Given the description of an element on the screen output the (x, y) to click on. 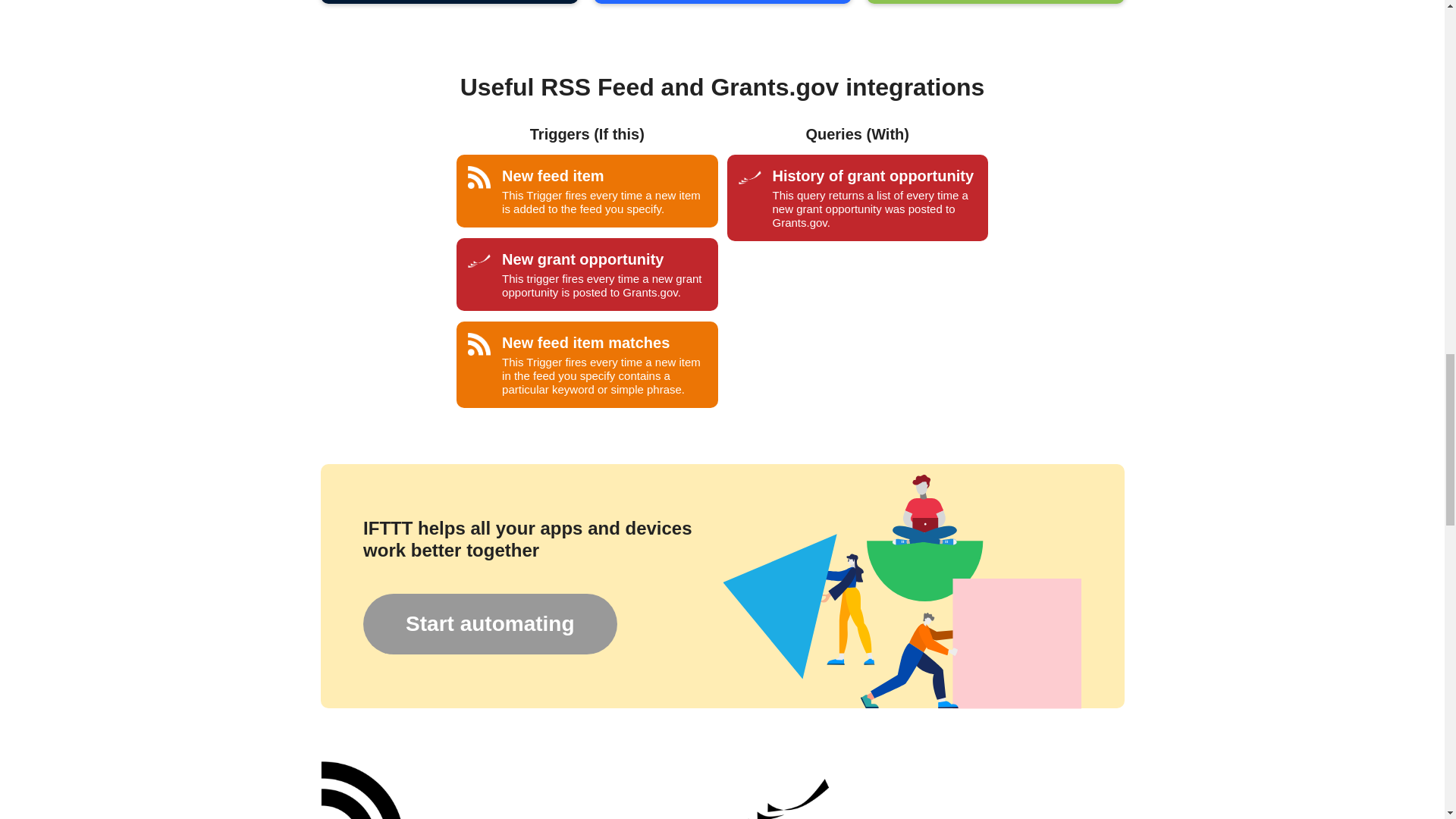
Start automating (488, 623)
